Given the description of an element on the screen output the (x, y) to click on. 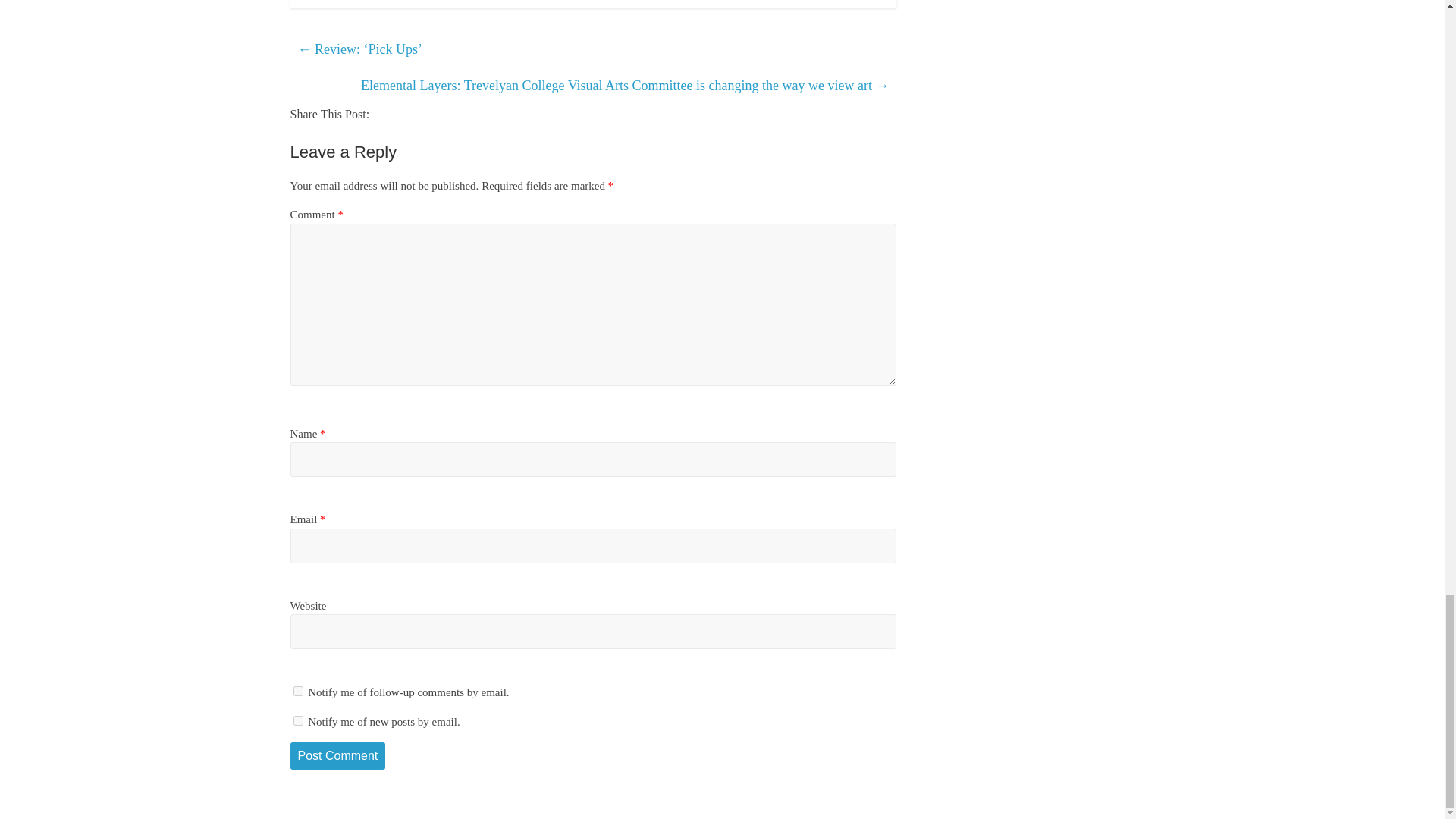
Post Comment (337, 755)
subscribe (297, 691)
subscribe (297, 720)
